Given the description of an element on the screen output the (x, y) to click on. 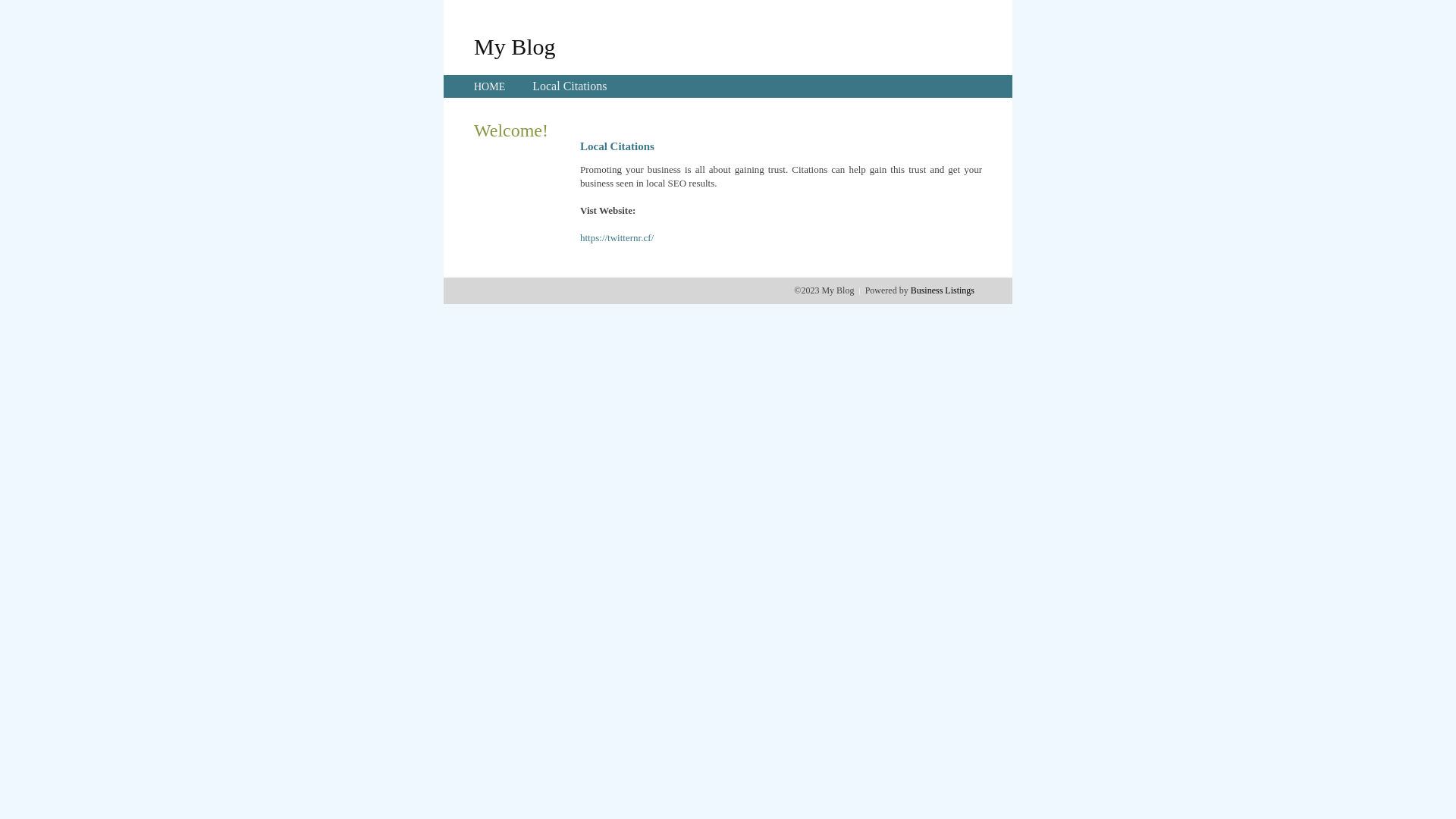
HOME Element type: text (489, 86)
Local Citations Element type: text (569, 85)
https://twitternr.cf/ Element type: text (616, 237)
Business Listings Element type: text (942, 290)
My Blog Element type: text (514, 46)
